Given the description of an element on the screen output the (x, y) to click on. 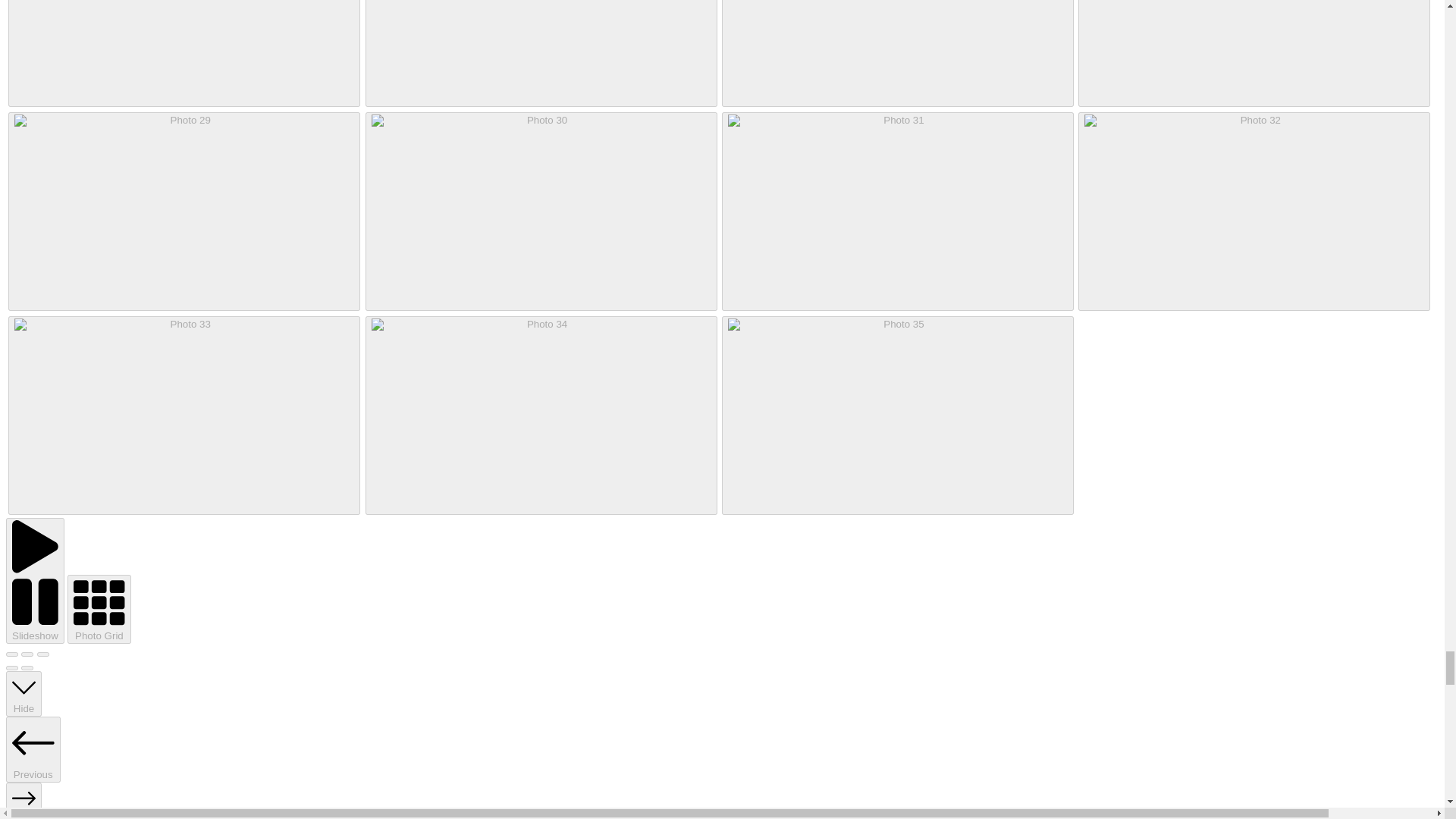
Photo Grid (98, 608)
Toggle fullscreen (27, 653)
